Given the description of an element on the screen output the (x, y) to click on. 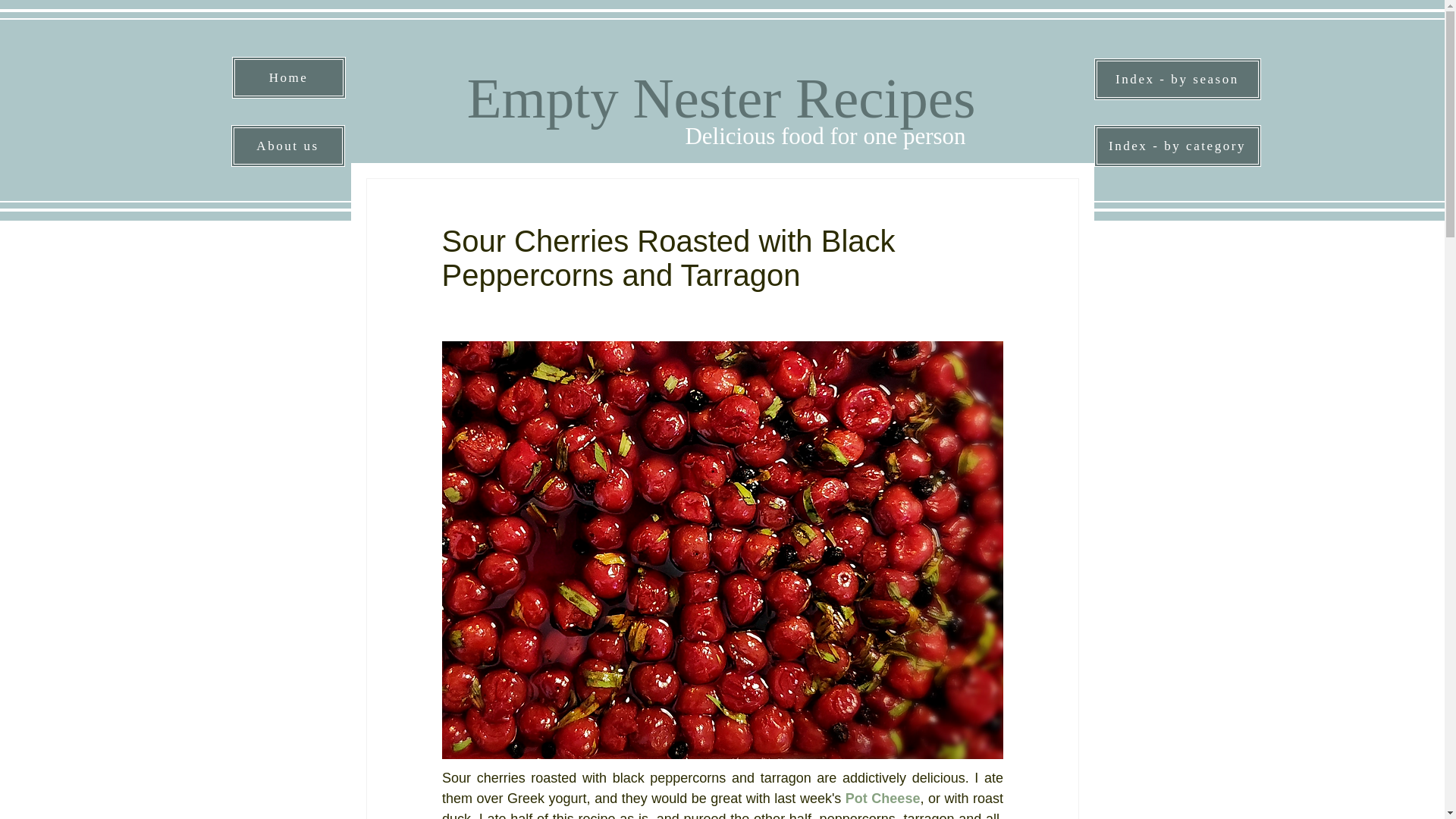
Empty Nester Recipes (721, 97)
About us (286, 146)
Home (288, 77)
Index - by category (1176, 146)
Index - by season (1176, 78)
Pot Cheese (882, 798)
